Given the description of an element on the screen output the (x, y) to click on. 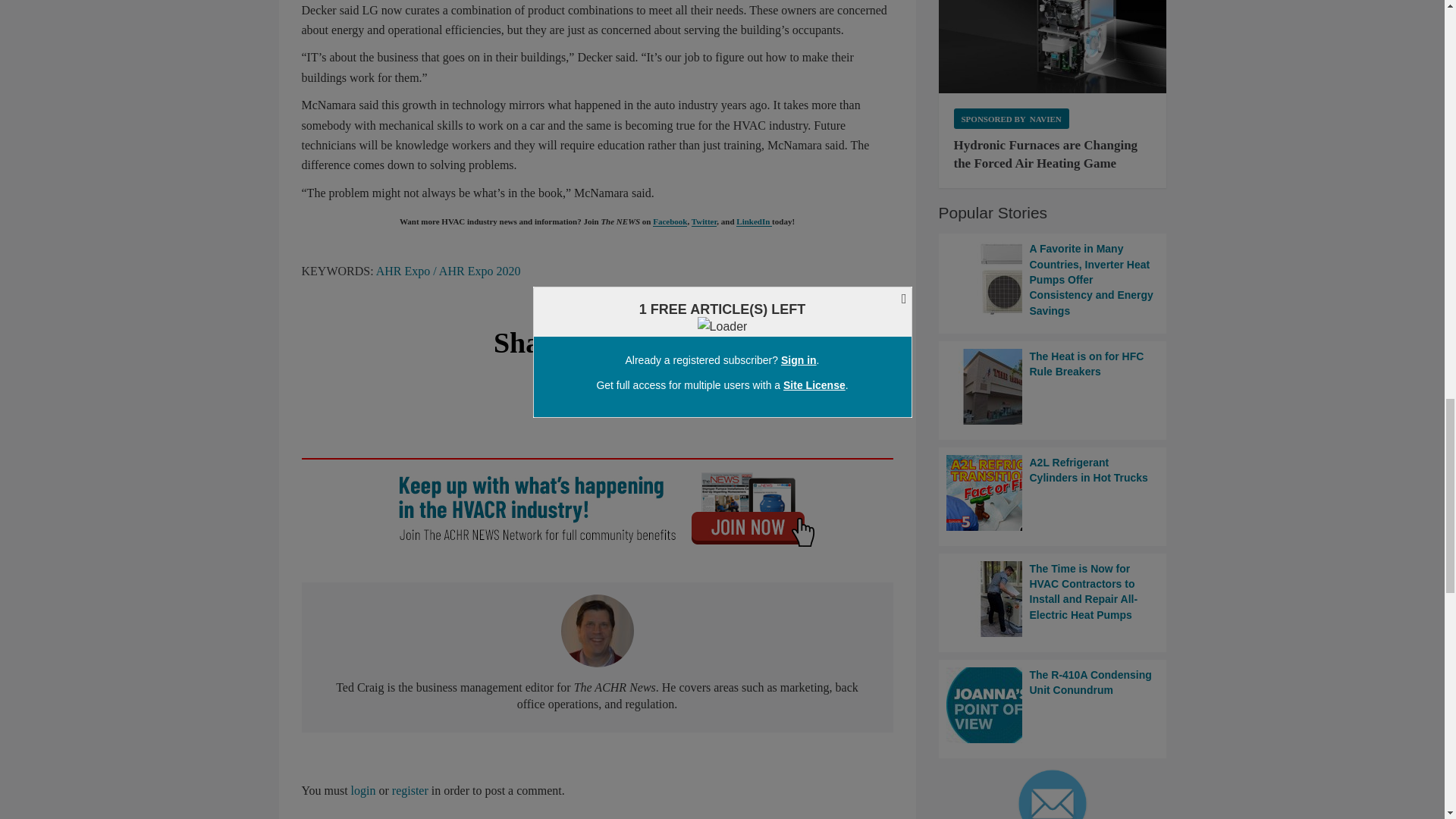
A2L Refrigerant Cylinders in Hot Trucks (1052, 492)
Sponsored by Navien (1010, 118)
The Heat is on for HFC Rule Breakers (1052, 386)
Hydronic Forced Air Furnace Diagram (1052, 46)
The R-410A Condensing Unit Conundrum (1052, 704)
